Given the description of an element on the screen output the (x, y) to click on. 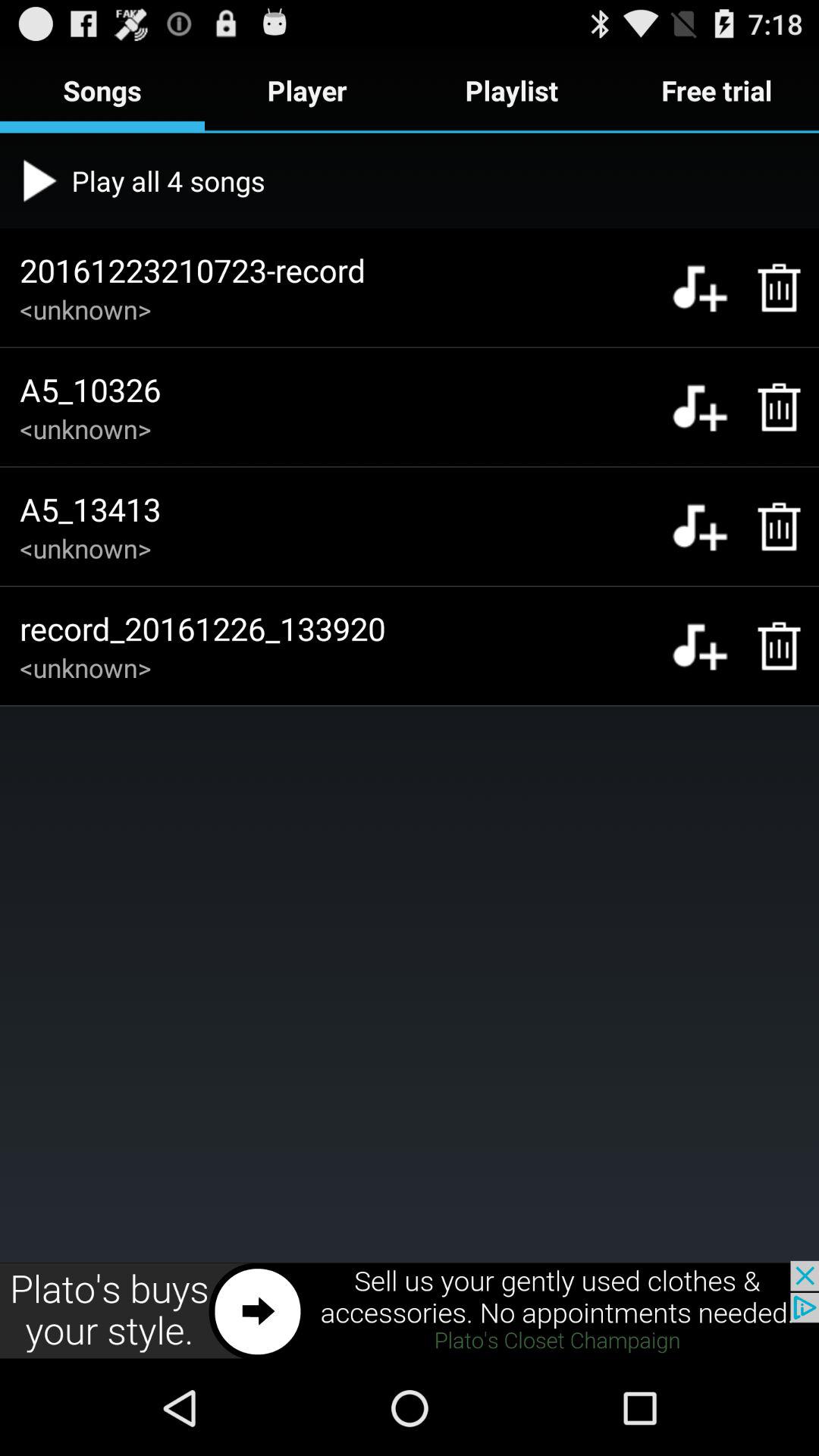
add music (699, 407)
